Given the description of an element on the screen output the (x, y) to click on. 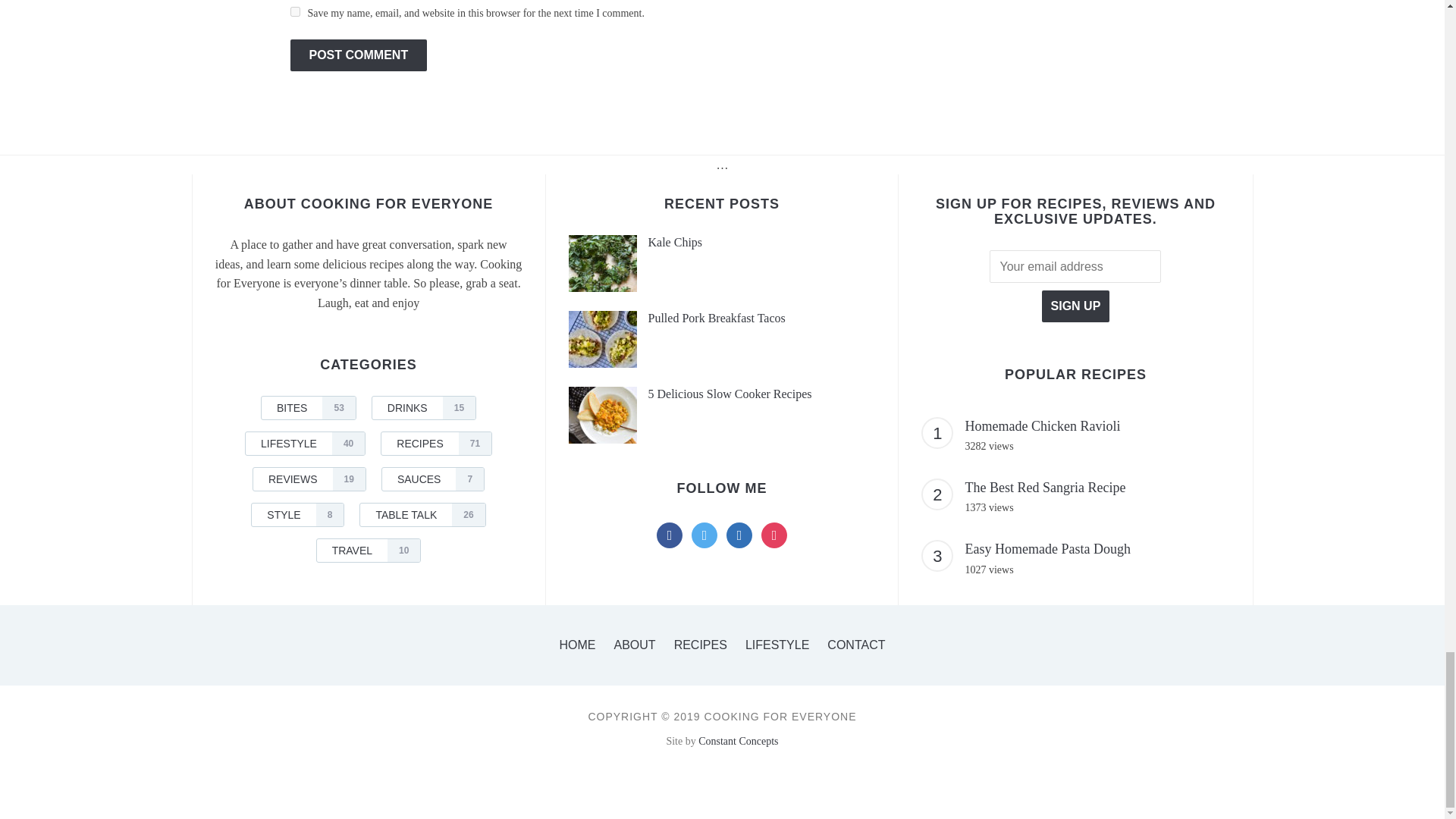
Post Comment (357, 55)
Sign up (1075, 306)
yes (294, 11)
